Given the description of an element on the screen output the (x, y) to click on. 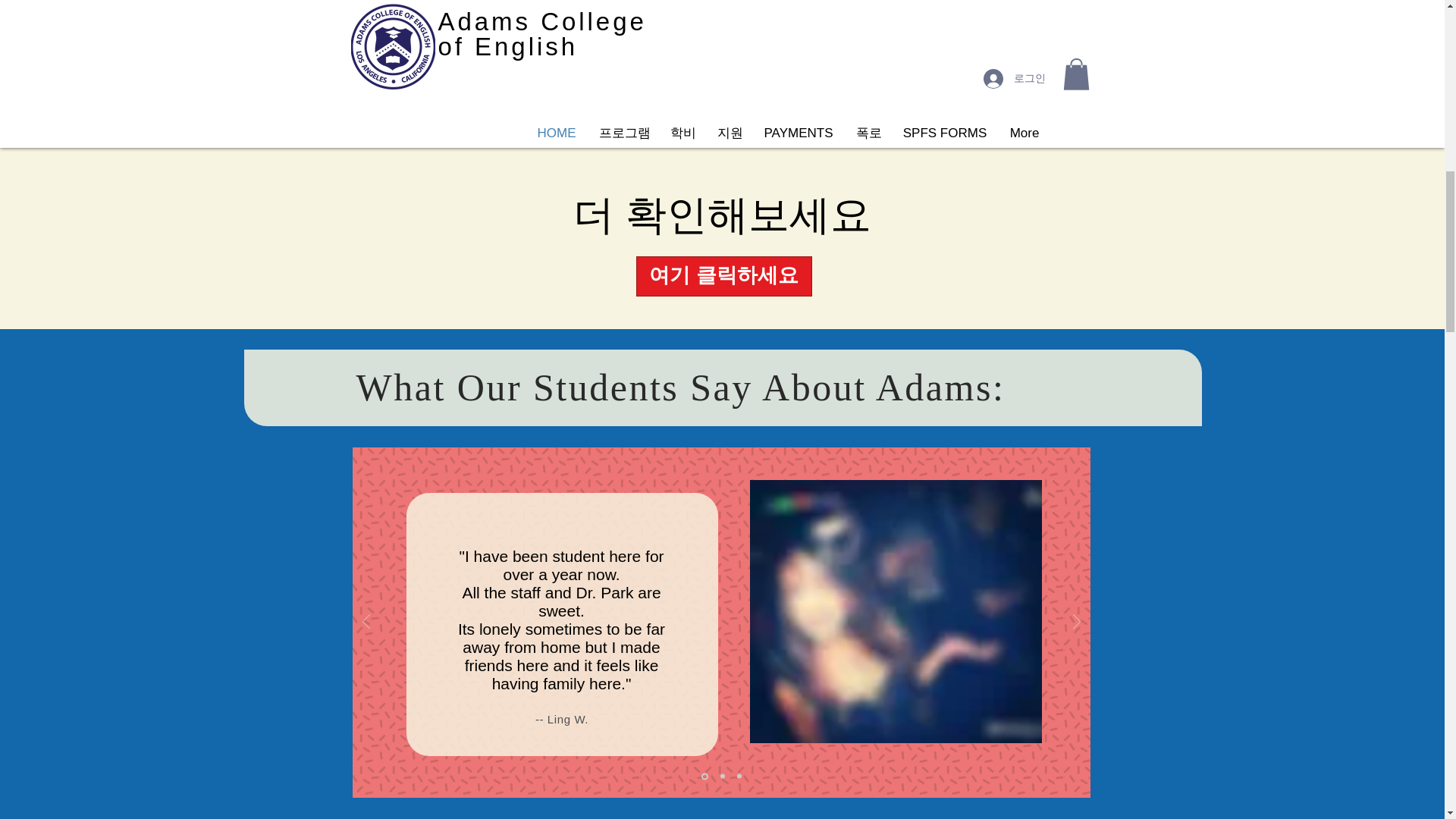
Former Student of Adams College of Engli (895, 610)
